Given the description of an element on the screen output the (x, y) to click on. 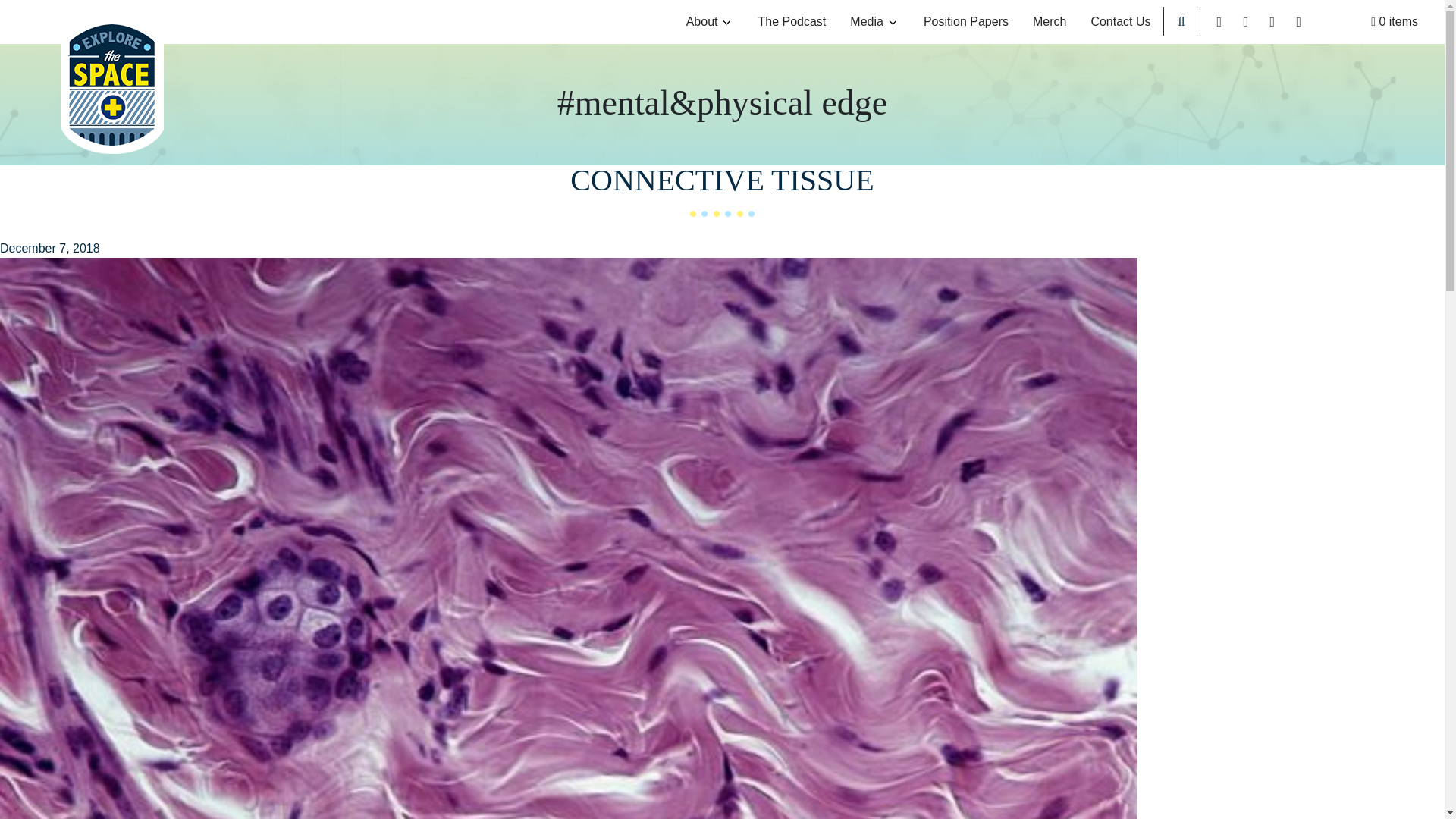
Contact Us (1119, 22)
Merch (1049, 22)
0 items (1394, 22)
View cart (1394, 22)
CONNECTIVE TISSUE (721, 179)
Media (874, 22)
Position Papers (965, 22)
About (709, 22)
The Podcast (791, 22)
December 7, 2018 (50, 247)
